Given the description of an element on the screen output the (x, y) to click on. 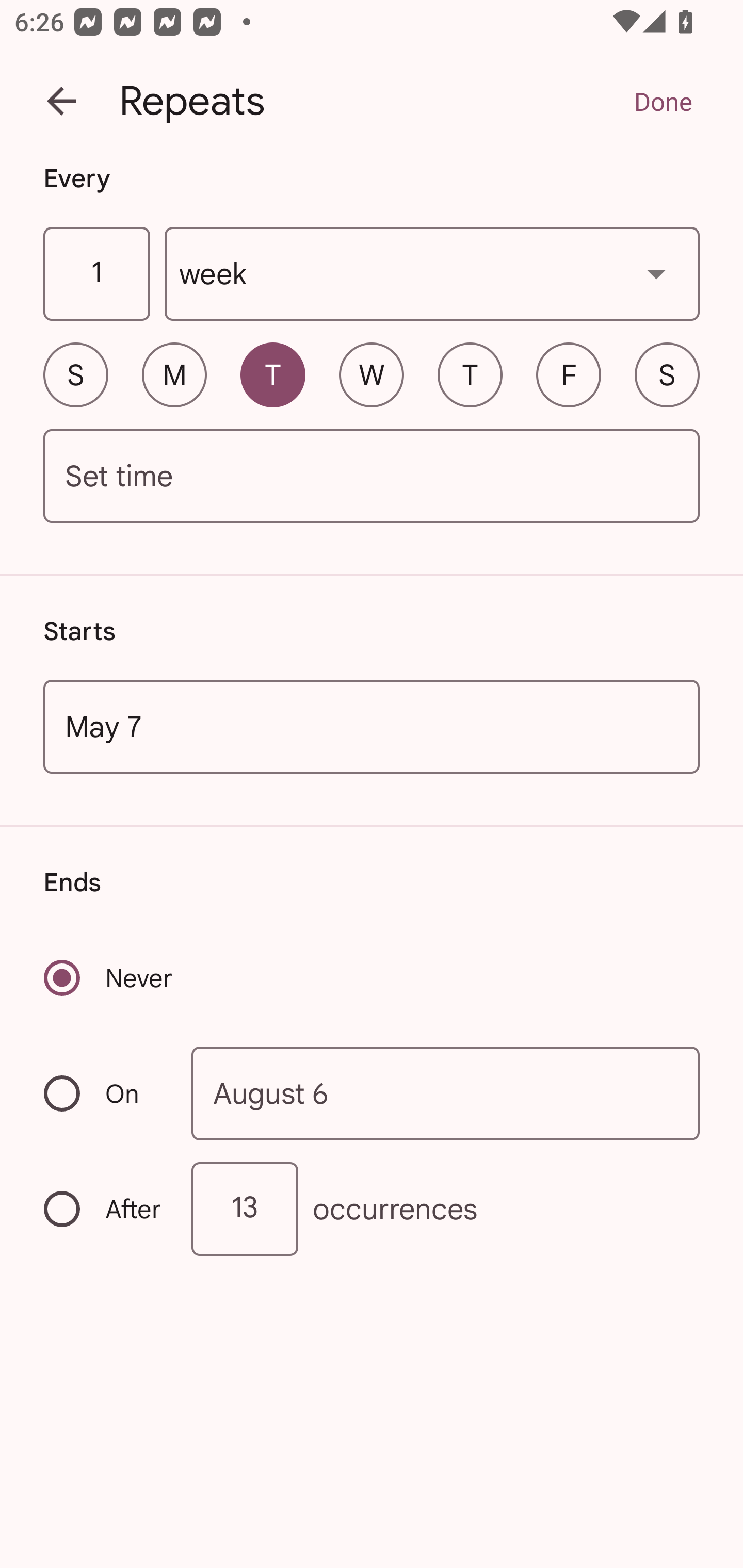
Back (61, 101)
Done (663, 101)
1 (96, 274)
week (431, 274)
Show dropdown menu (655, 273)
S Sunday (75, 374)
M Monday (173, 374)
T Tuesday, selected (272, 374)
W Wednesday (371, 374)
T Thursday (469, 374)
F Friday (568, 374)
S Saturday (666, 374)
Set time (371, 476)
May 7 (371, 726)
Never Recurrence never ends (109, 978)
August 6 (445, 1092)
On Recurrence ends on a specific date (104, 1093)
13 (244, 1208)
